Given the description of an element on the screen output the (x, y) to click on. 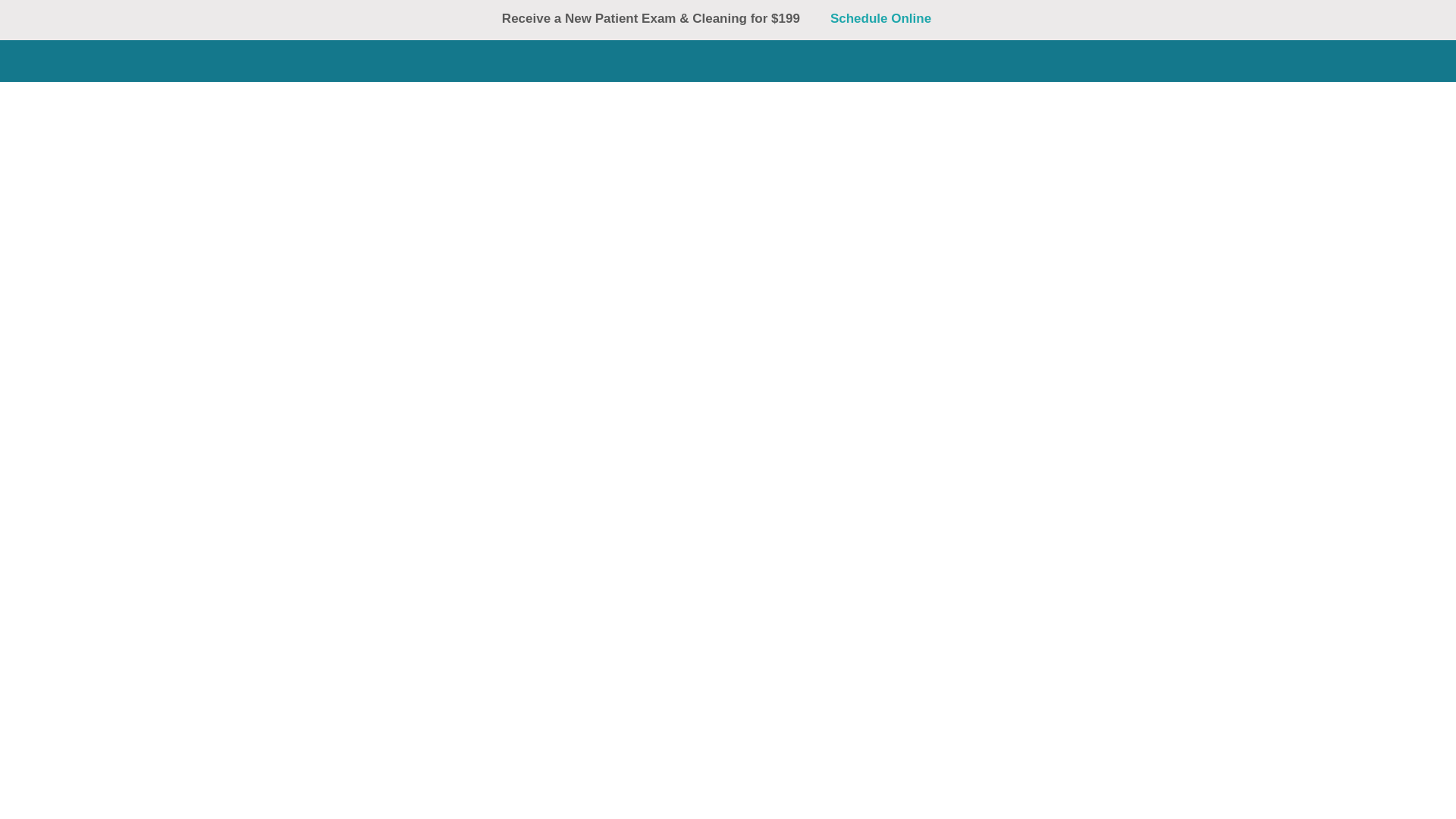
Schedule a Free Consultation (658, 33)
Schedule Online (833, 33)
Schedule Online (891, 18)
